Given the description of an element on the screen output the (x, y) to click on. 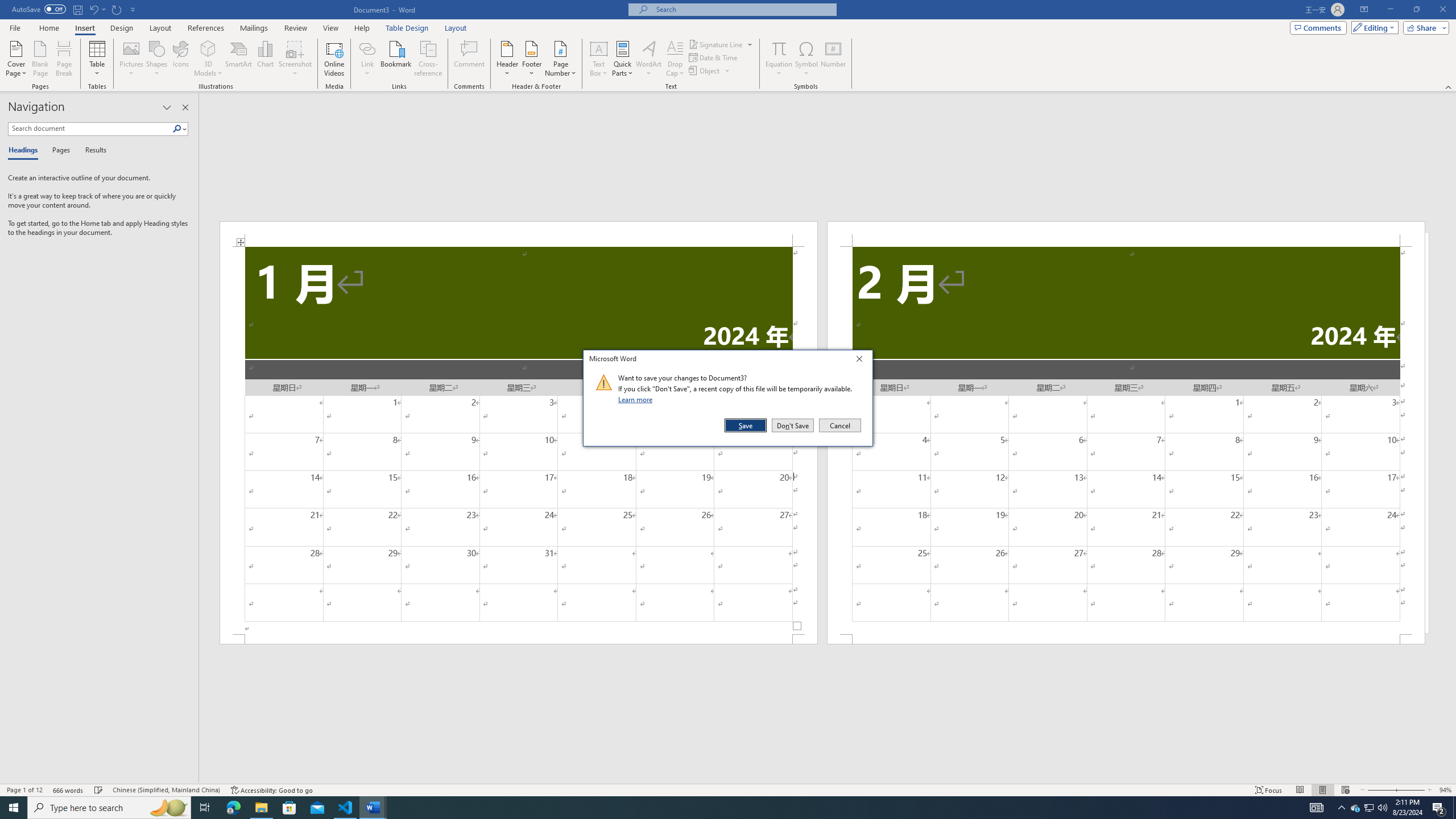
Shapes (156, 58)
Microsoft search (742, 9)
Learn more (636, 399)
Close pane (185, 107)
Cover Page (16, 58)
Focus  (1268, 790)
Spelling and Grammar Check Checking (98, 790)
WordArt (648, 58)
Word - 2 running windows (1355, 807)
File Tab (373, 807)
Save (15, 27)
Accessibility Checker Accessibility: Good to go (746, 425)
Running applications (271, 790)
Blank Page (717, 807)
